Given the description of an element on the screen output the (x, y) to click on. 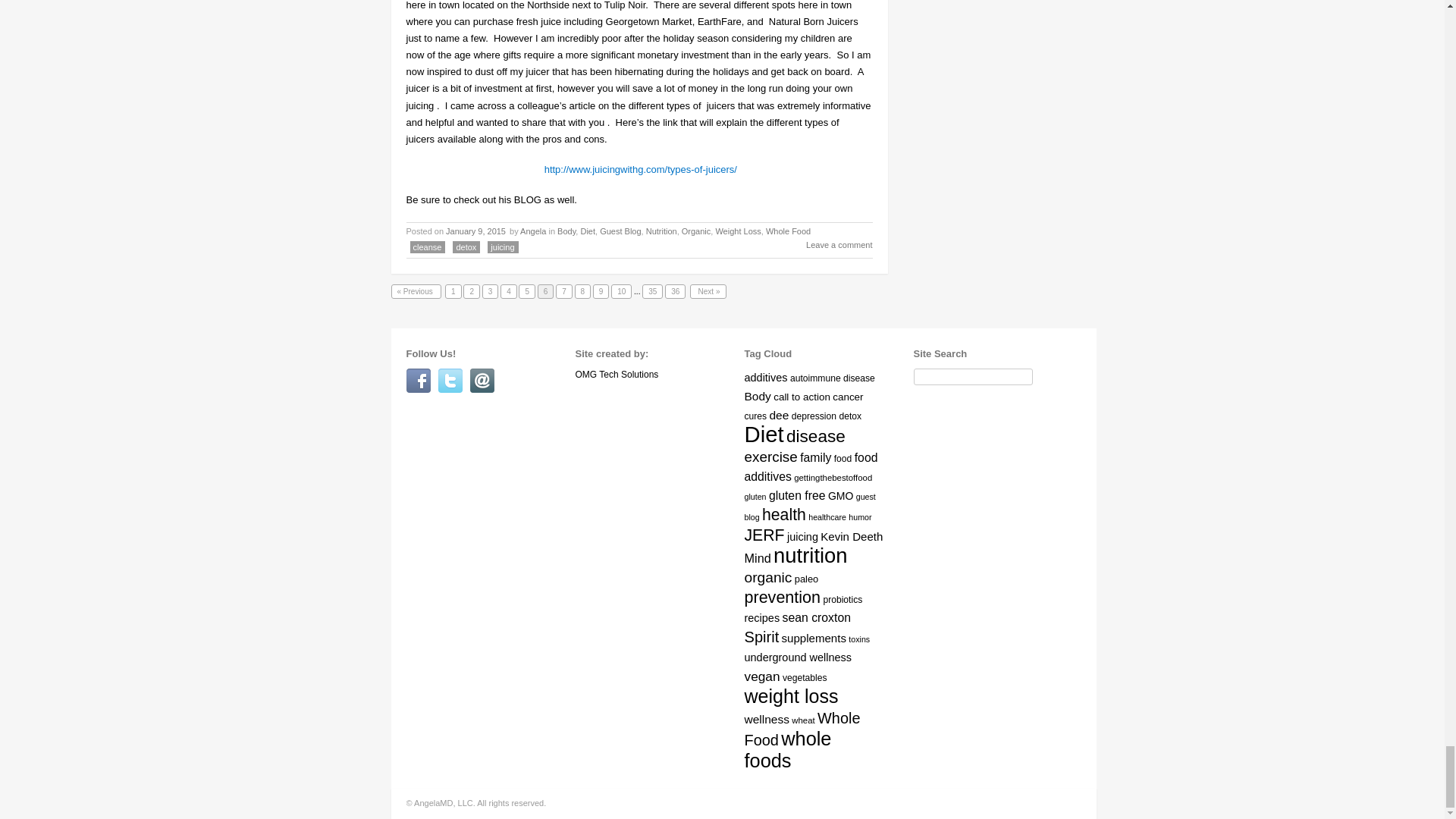
Search (921, 391)
Search (921, 391)
